Given the description of an element on the screen output the (x, y) to click on. 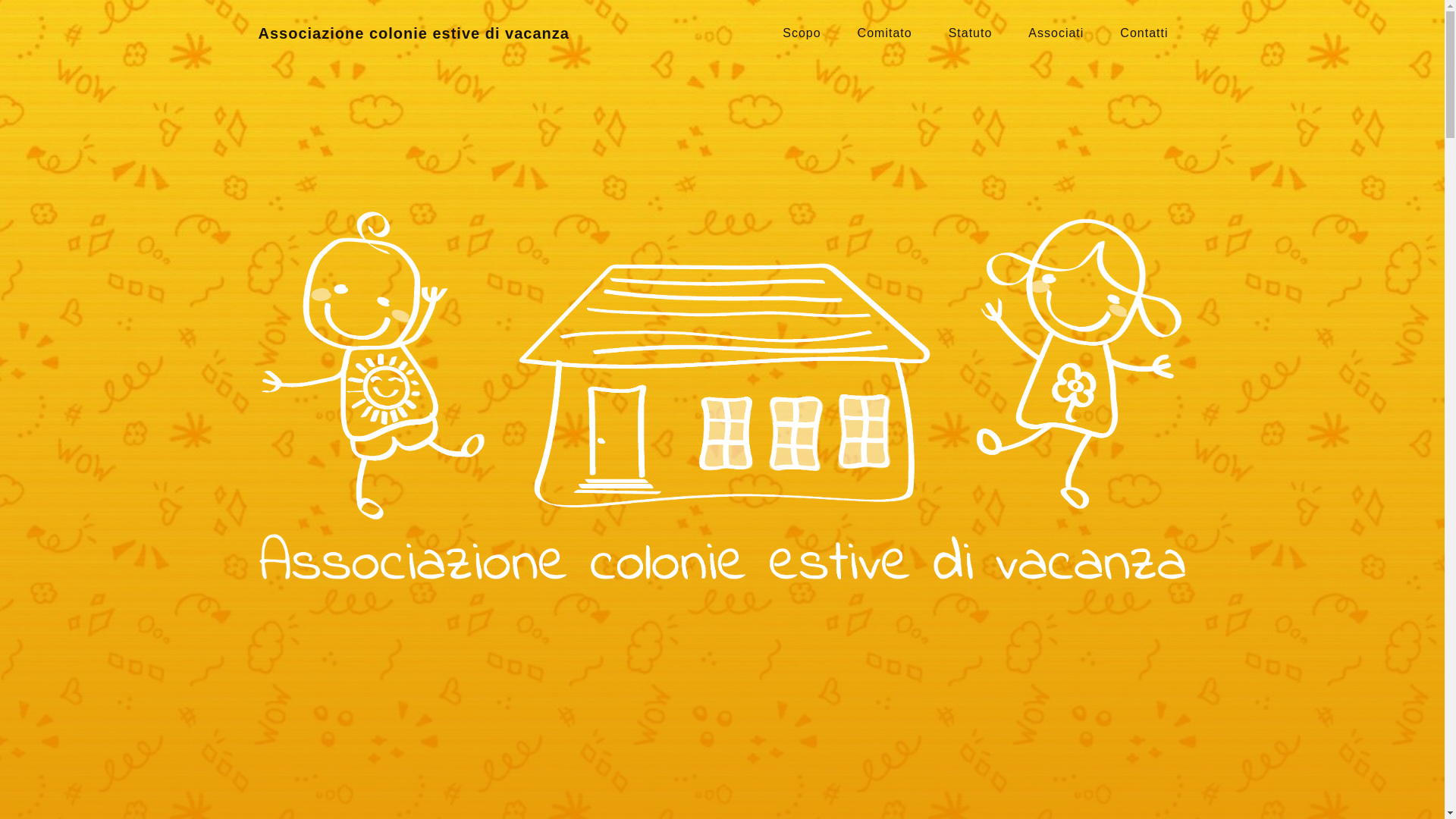
Scopo Element type: text (801, 33)
Associati Element type: text (1055, 33)
Statuto Element type: text (970, 33)
Contatti Element type: text (1143, 33)
Comitato Element type: text (884, 33)
Associazione colonie estive di vacanza Element type: text (412, 32)
